Given the description of an element on the screen output the (x, y) to click on. 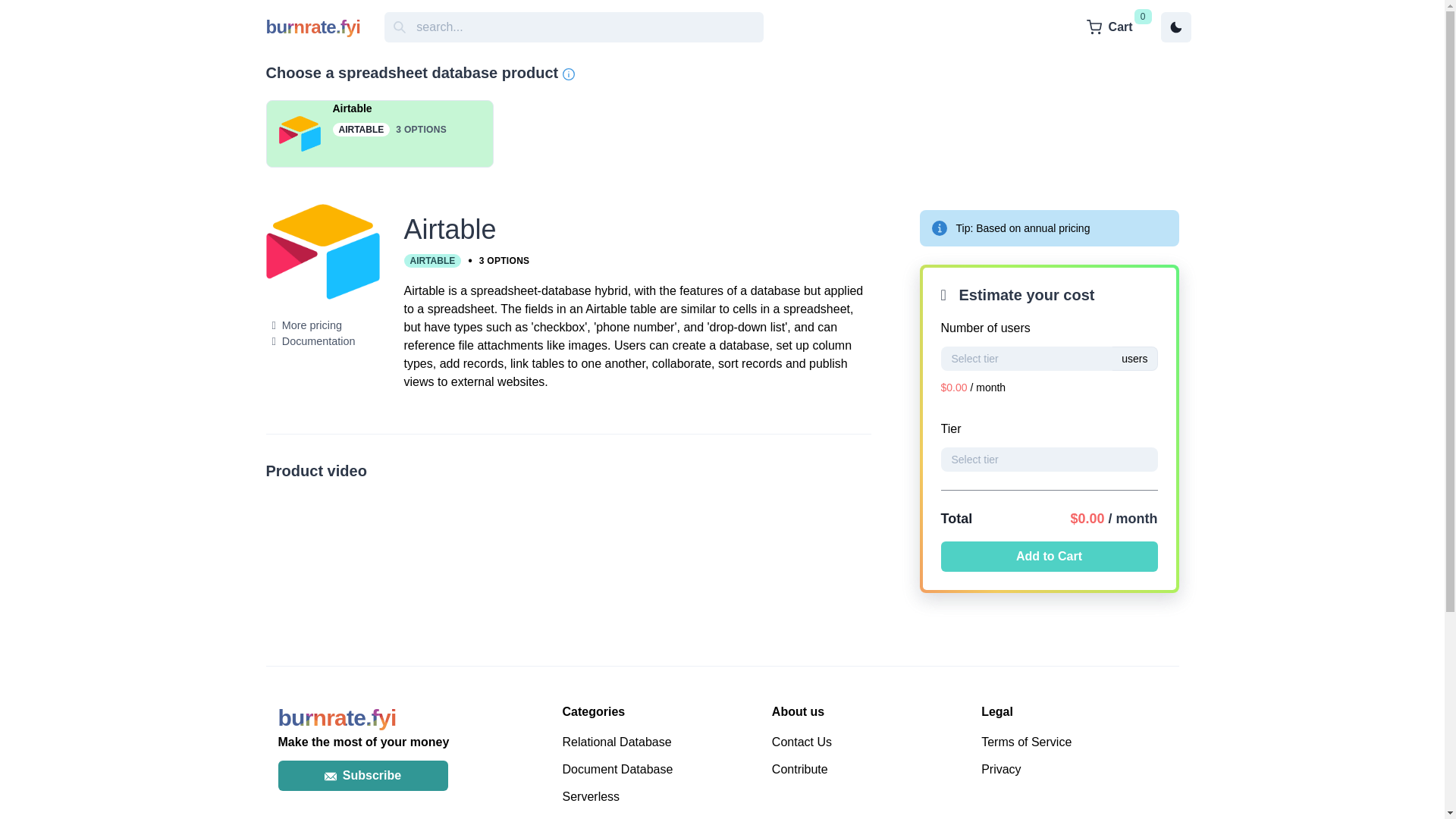
Contribute (870, 769)
Document Database (661, 769)
Serverless (661, 796)
Terms of Service (1079, 742)
Subscribe (362, 775)
Relational Database (661, 742)
Add to Cart (1048, 556)
burnrate.fyi (312, 27)
burnrate.fyi (335, 717)
Authentication (661, 816)
